Given the description of an element on the screen output the (x, y) to click on. 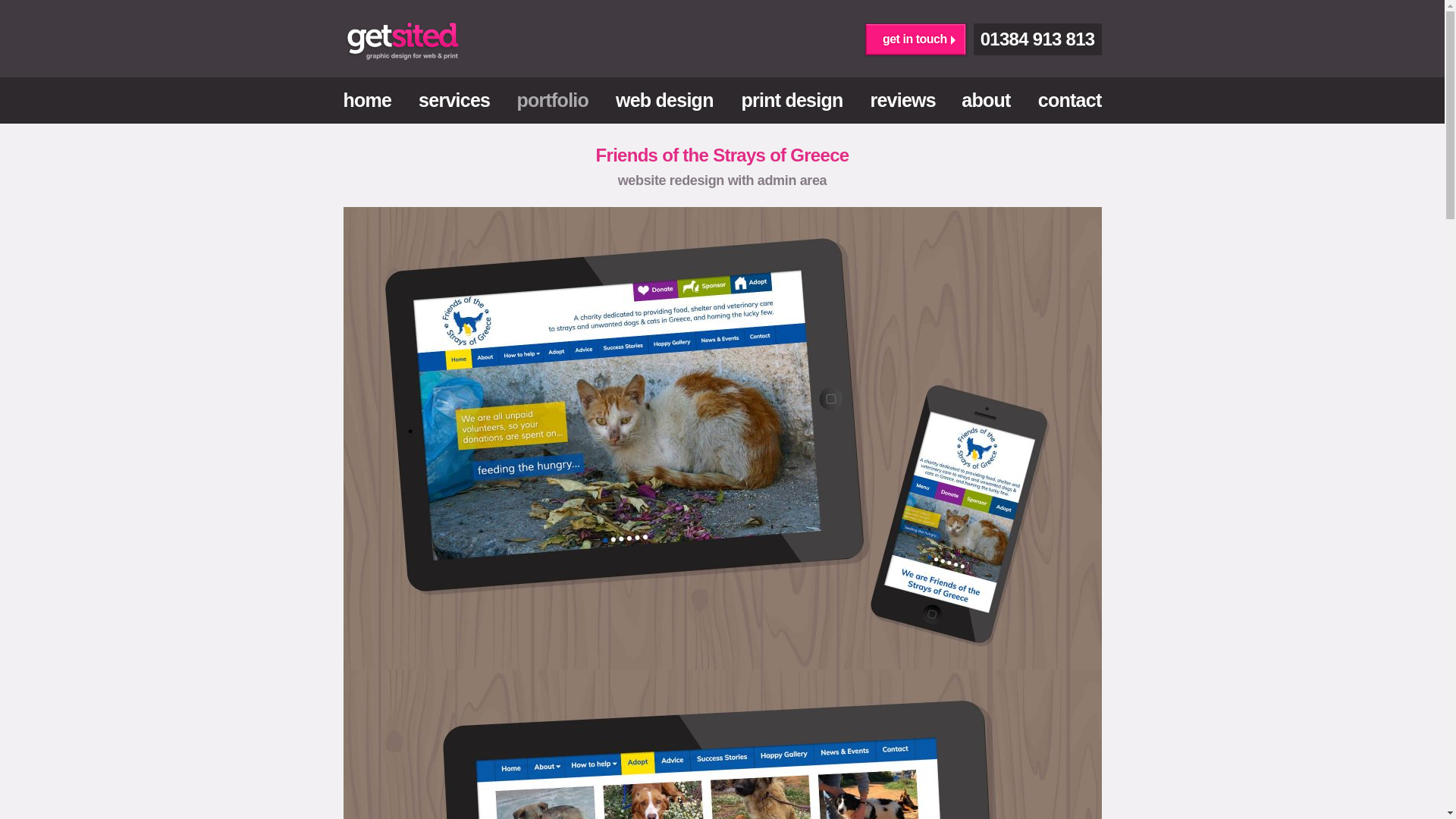
services (453, 99)
home (373, 99)
portfolio (552, 99)
reviews (903, 99)
print design (791, 99)
about (986, 99)
get in touch (915, 39)
contact (1062, 99)
web design (664, 99)
